Given the description of an element on the screen output the (x, y) to click on. 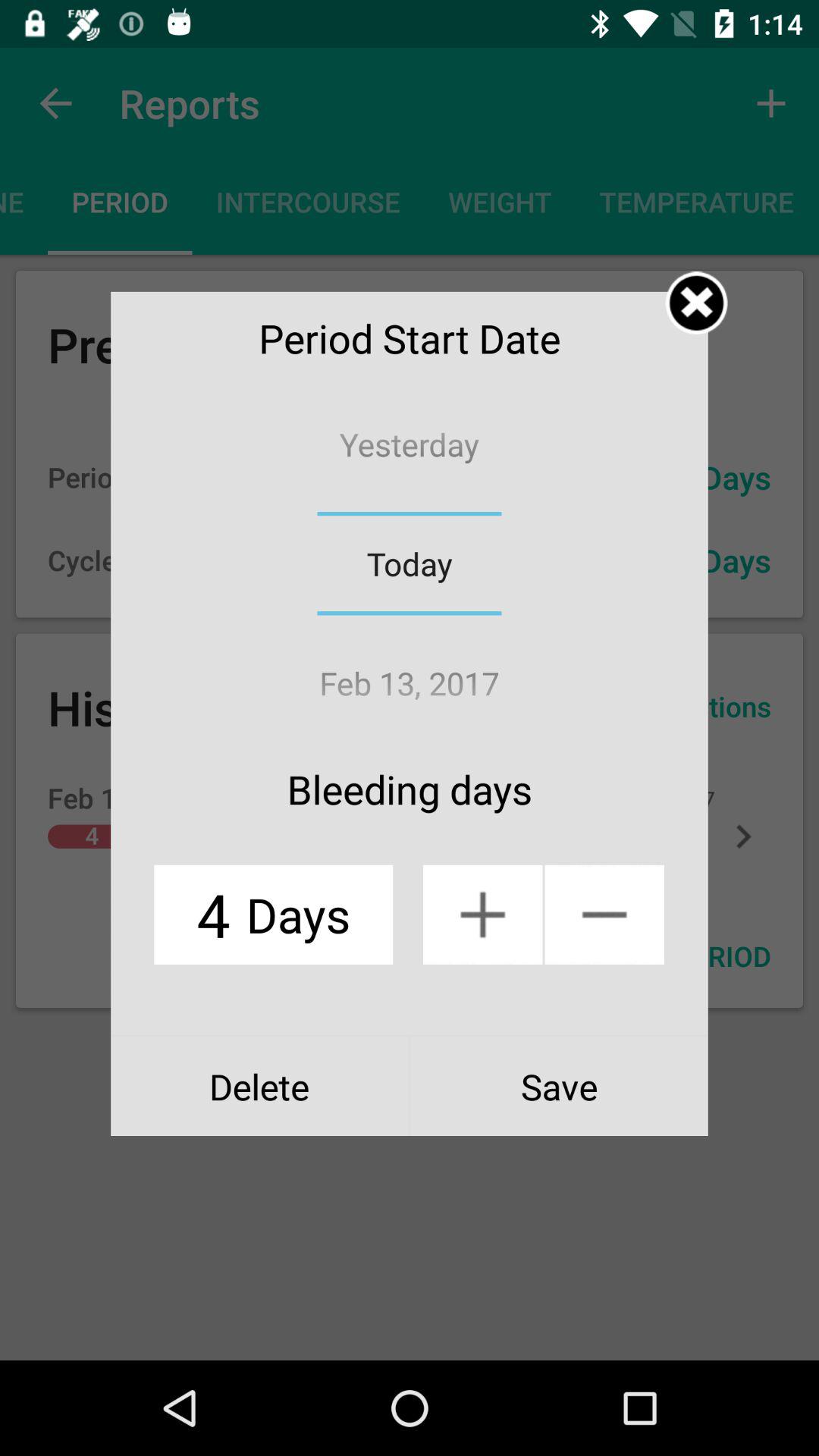
close the open window (696, 302)
